Given the description of an element on the screen output the (x, y) to click on. 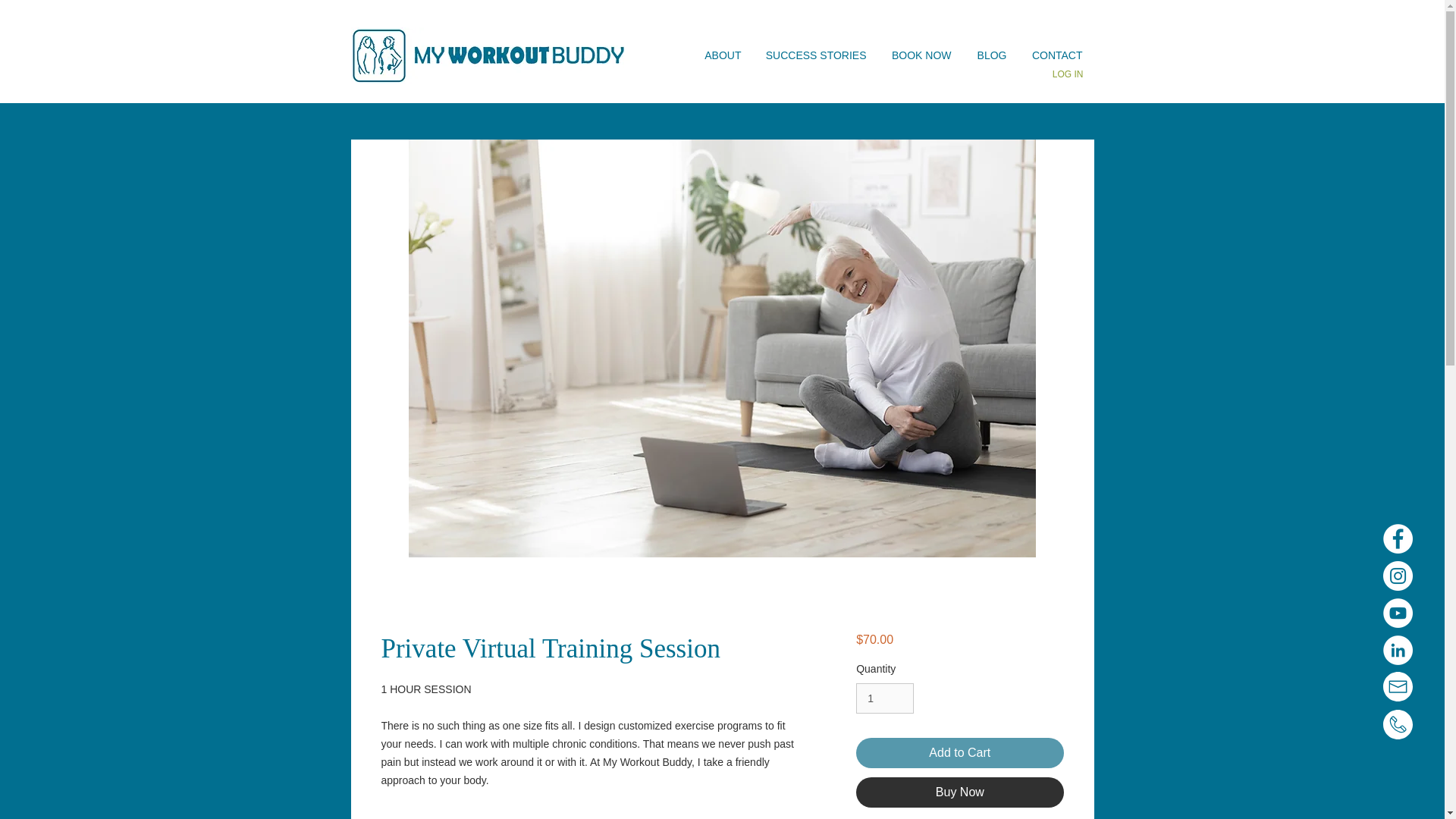
ABOUT (721, 54)
BLOG (989, 54)
Add to Cart (959, 752)
LOG IN (1068, 74)
BOOK NOW (919, 54)
Buy Now (959, 792)
SUCCESS STORIES (814, 54)
1 (885, 698)
CONTACT (1055, 54)
